Given the description of an element on the screen output the (x, y) to click on. 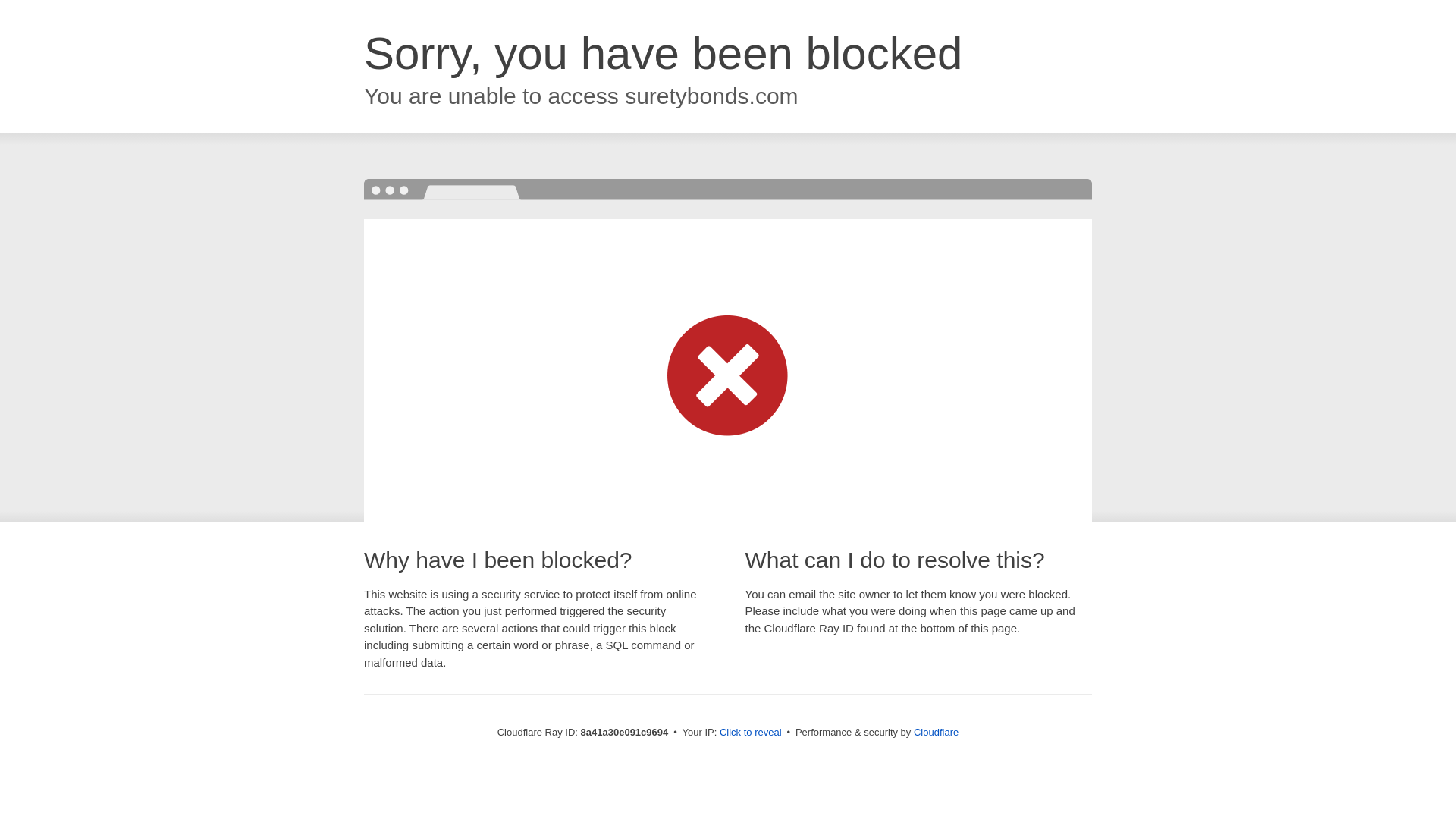
Cloudflare (936, 731)
Click to reveal (750, 732)
